Given the description of an element on the screen output the (x, y) to click on. 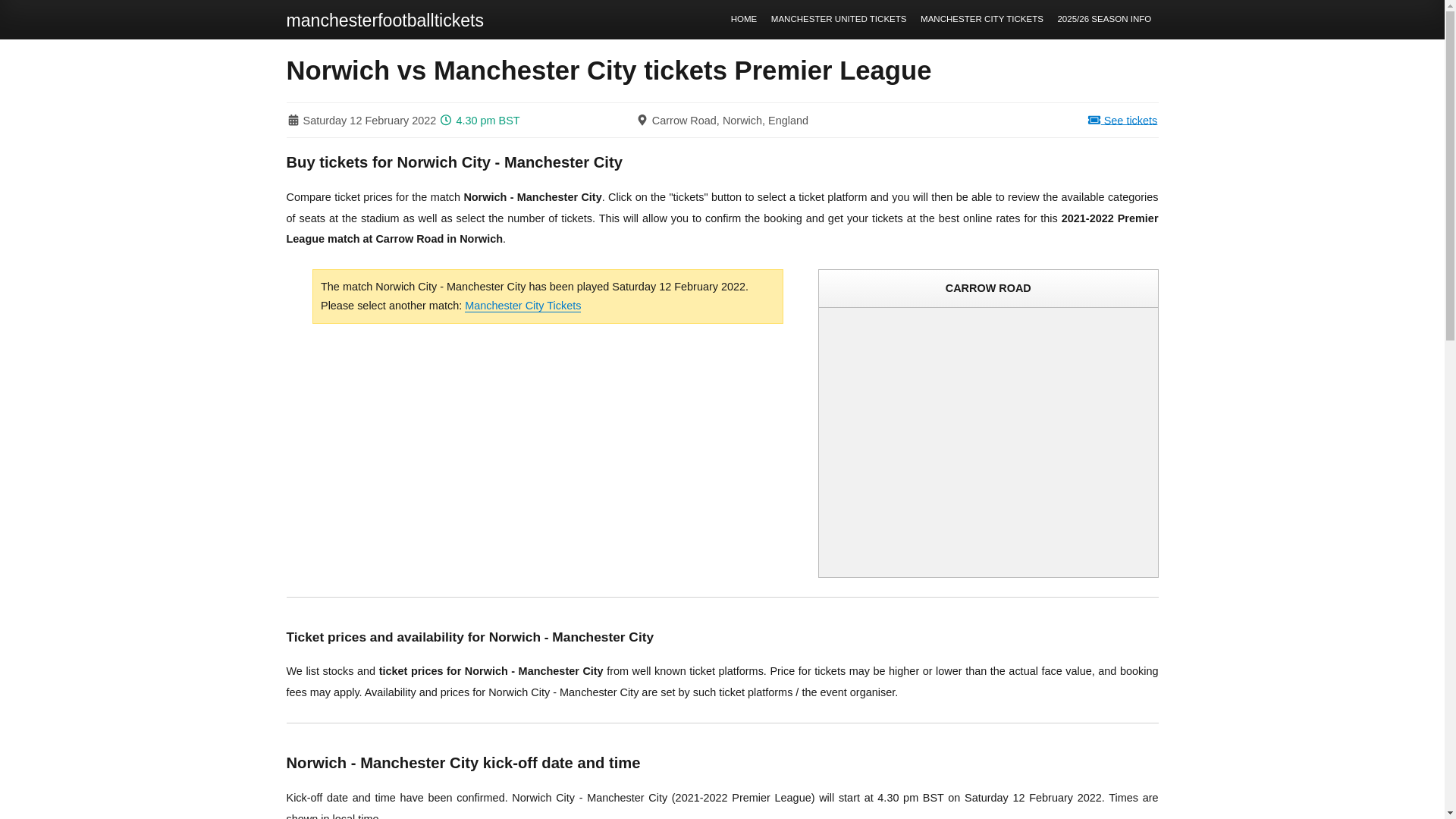
See tickets (1011, 120)
Manchester City Tickets (522, 305)
manchesterfootballtickets (385, 20)
Carrow Road seating plan (988, 442)
See tickets (1011, 120)
MANCHESTER UNITED TICKETS (839, 19)
Buy Manchester City tickets online (522, 305)
MANCHESTER CITY TICKETS (981, 19)
HOME (742, 19)
See tickets (1011, 120)
